Given the description of an element on the screen output the (x, y) to click on. 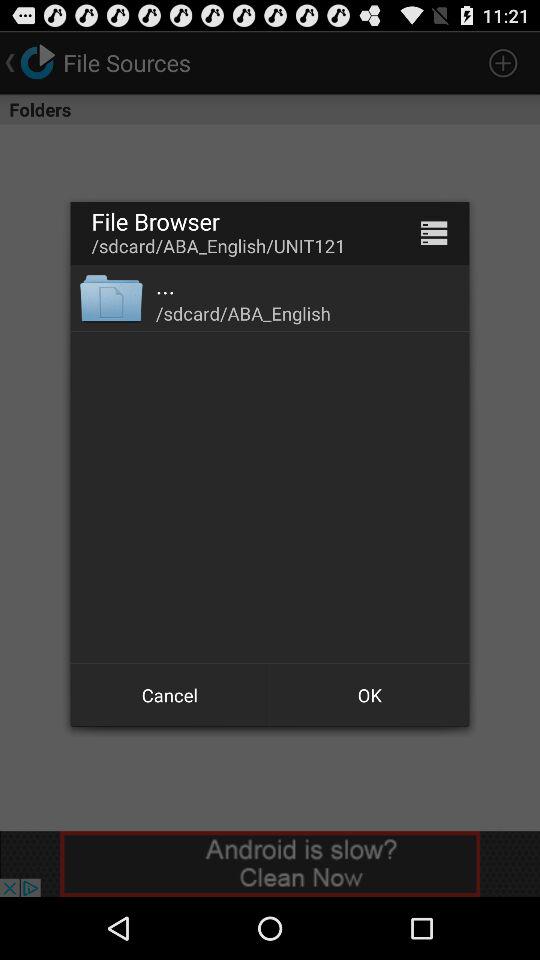
select app to the right of /sdcard/aba_english/unit121 item (433, 232)
